Given the description of an element on the screen output the (x, y) to click on. 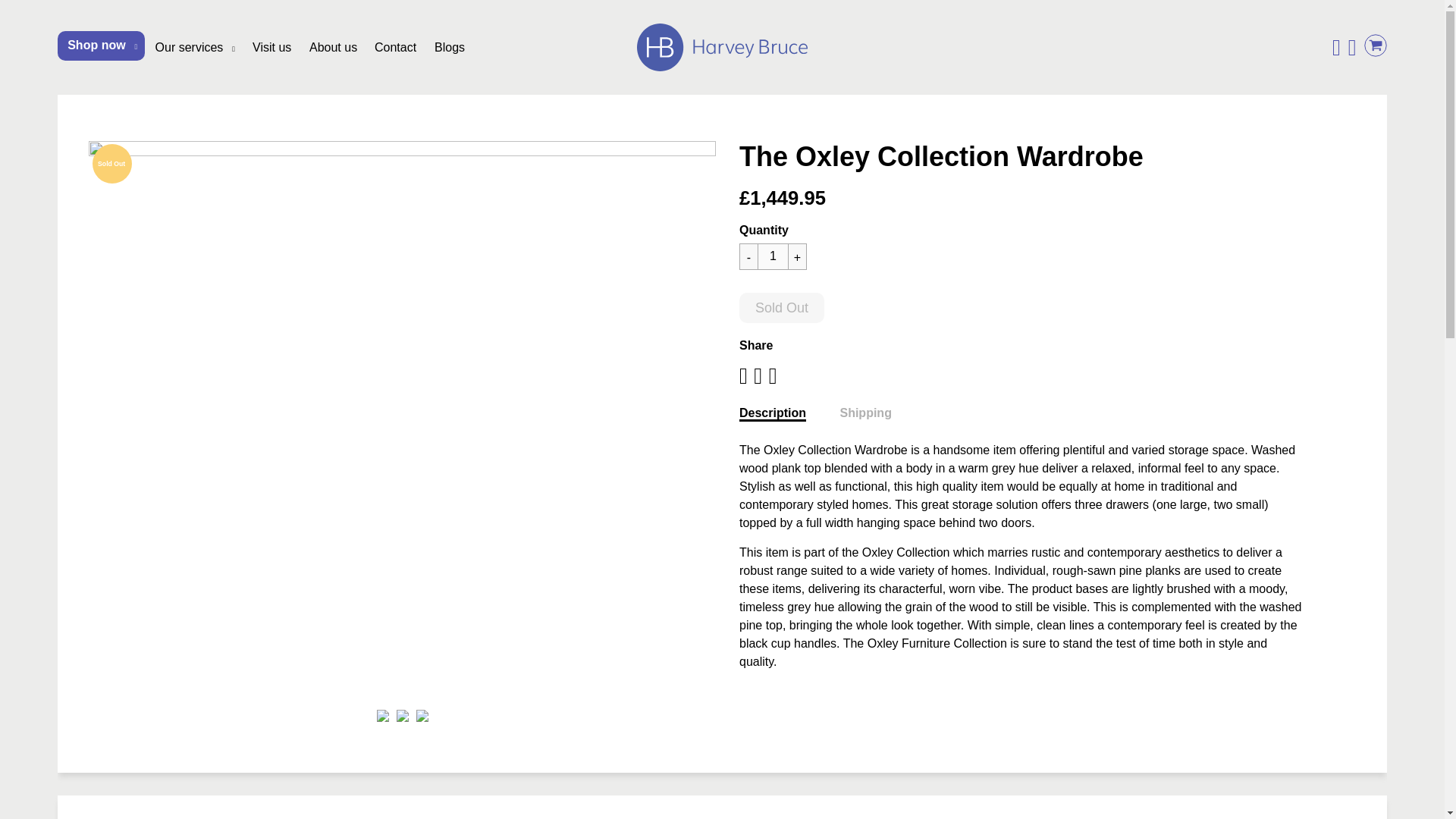
Shop now (101, 44)
Our services (195, 47)
Sold Out (112, 163)
1 (772, 256)
